Given the description of an element on the screen output the (x, y) to click on. 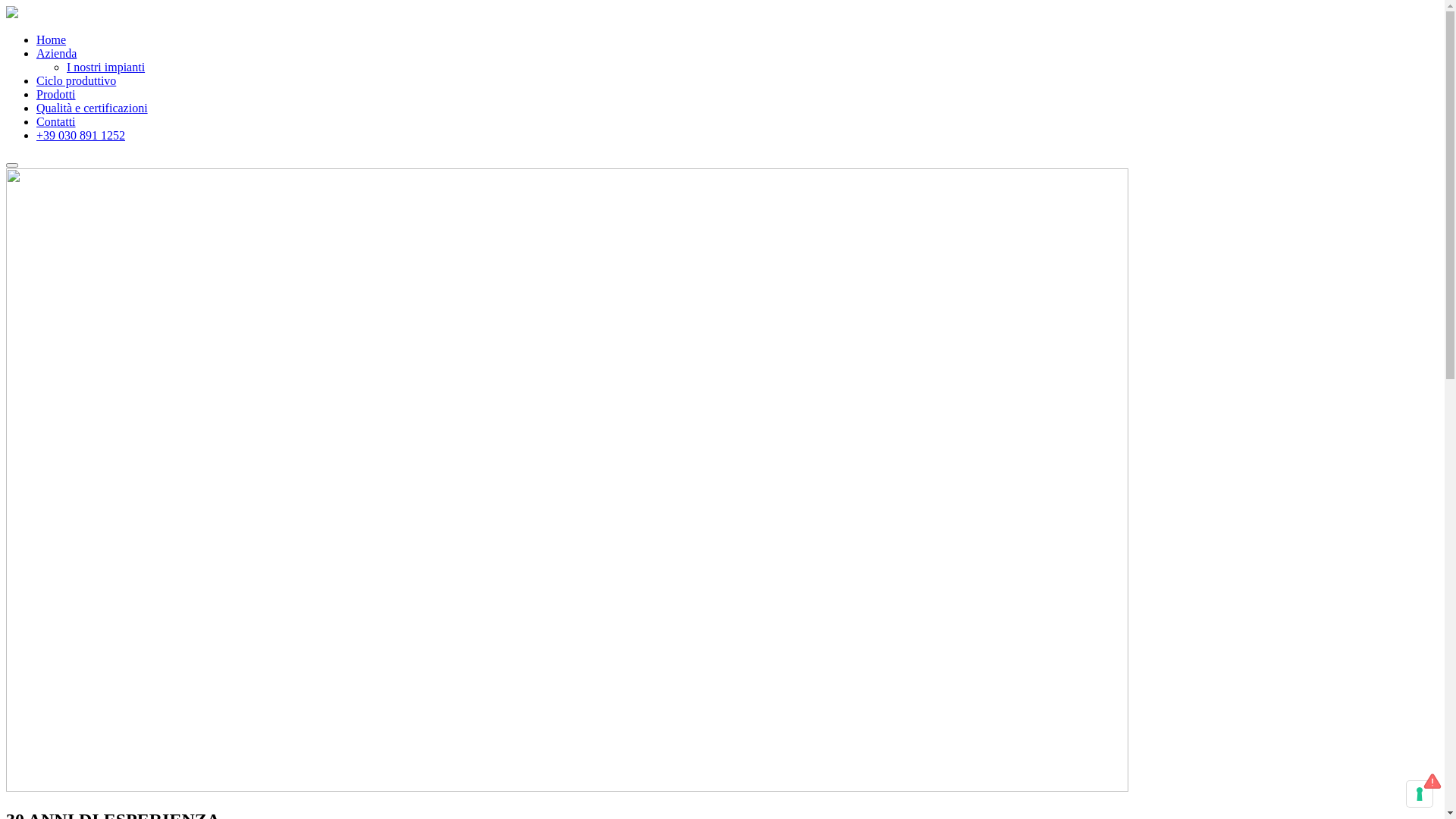
Home Element type: text (50, 39)
Ciclo produttivo Element type: text (76, 80)
Azienda Element type: text (56, 53)
+39 030 891 1252 Element type: text (80, 134)
Contatti Element type: text (55, 121)
I nostri impianti Element type: text (105, 66)
2 ZETA Element type: hover (12, 13)
Prodotti Element type: text (55, 93)
